Given the description of an element on the screen output the (x, y) to click on. 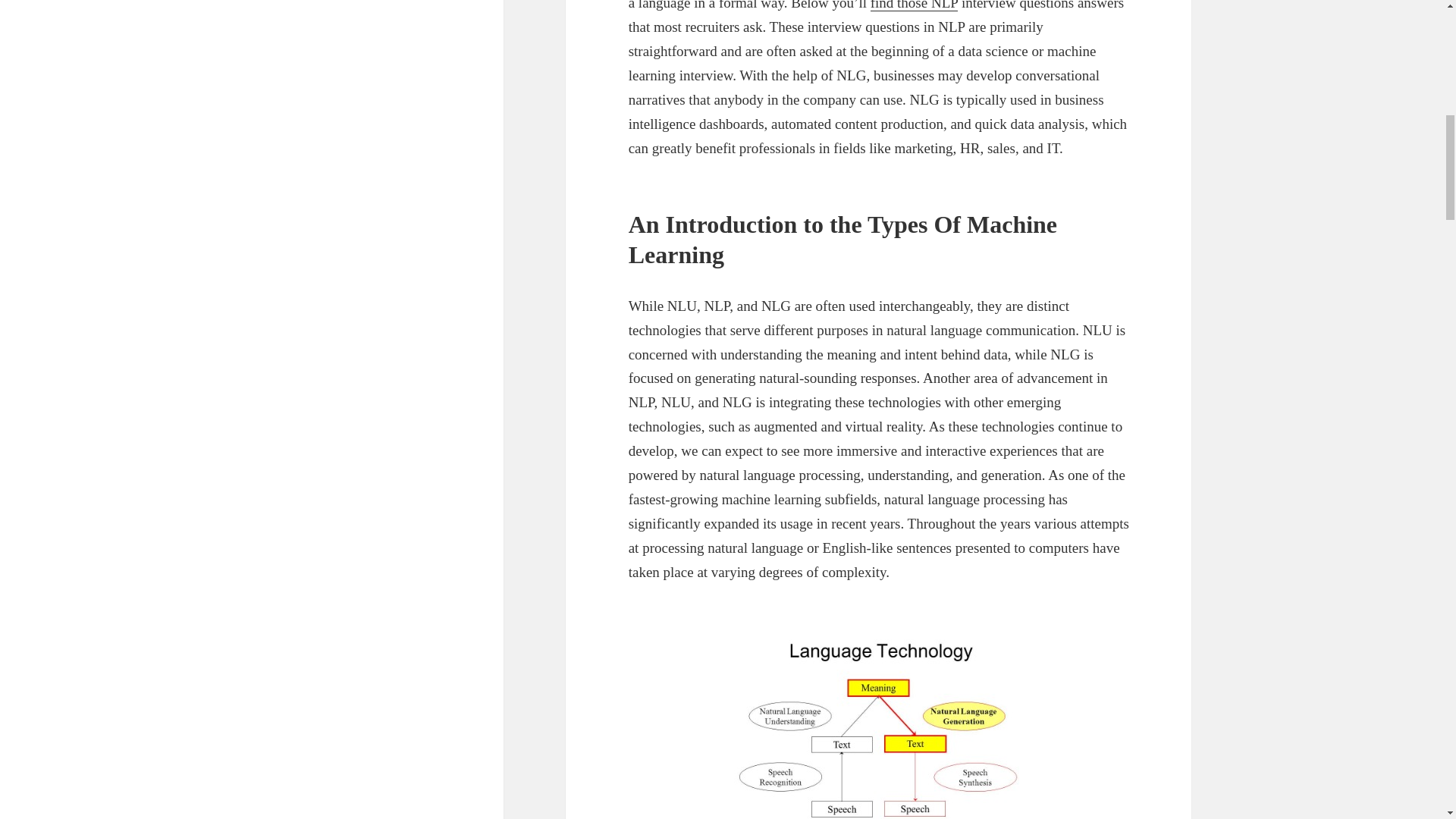
find those NLP (914, 5)
